Given the description of an element on the screen output the (x, y) to click on. 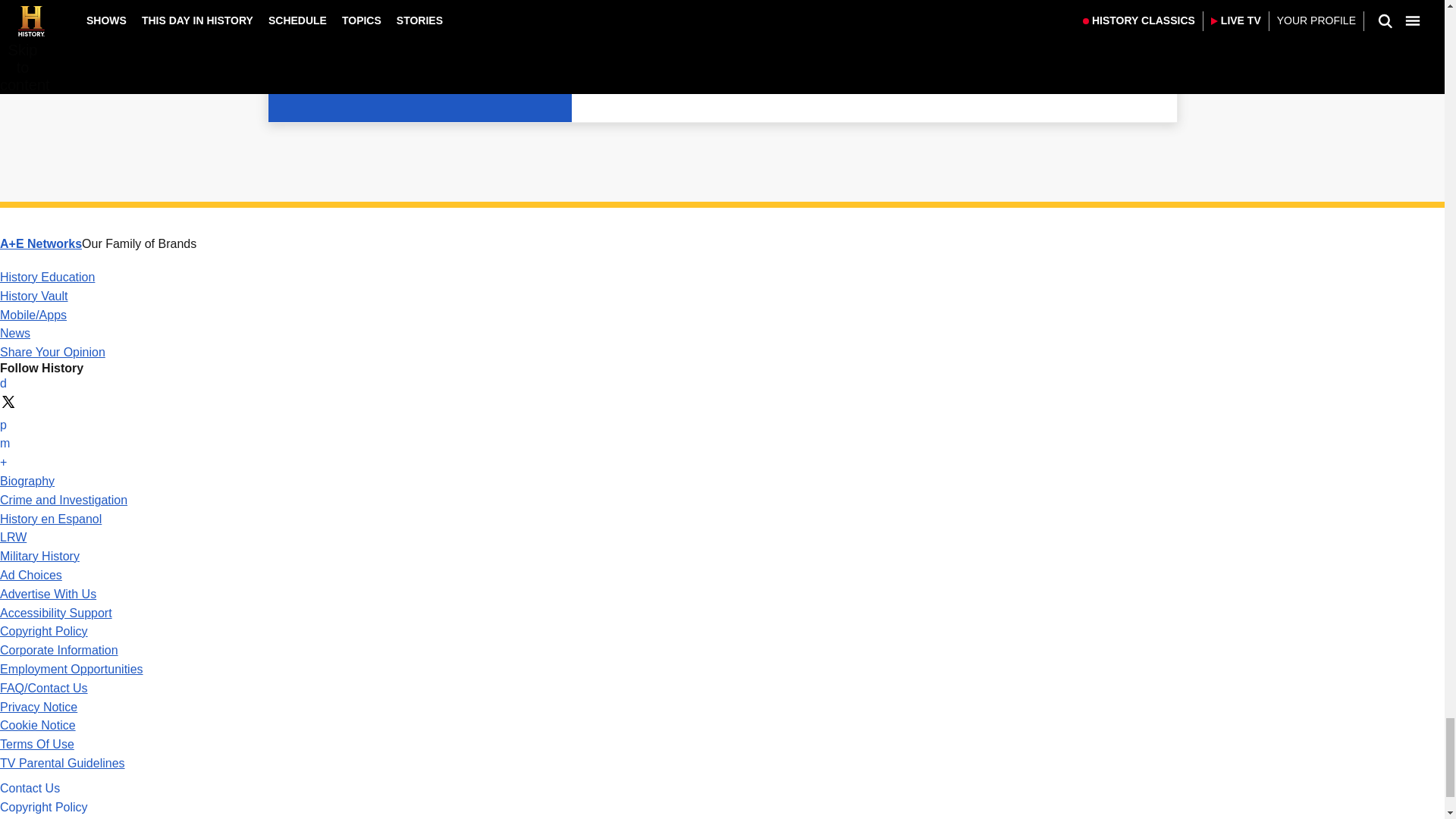
Visit Privacy Notice (38, 707)
Visit Copyright Policy (43, 631)
Visit History Vault (34, 295)
Visit Crime and Investigation (64, 499)
Visit History Education (47, 277)
Visit Share Your Opinion (52, 351)
Visit Employment Opportunities (71, 668)
Visit History en Espanol (50, 518)
Visit News (15, 332)
Visit Biography (27, 481)
